Given the description of an element on the screen output the (x, y) to click on. 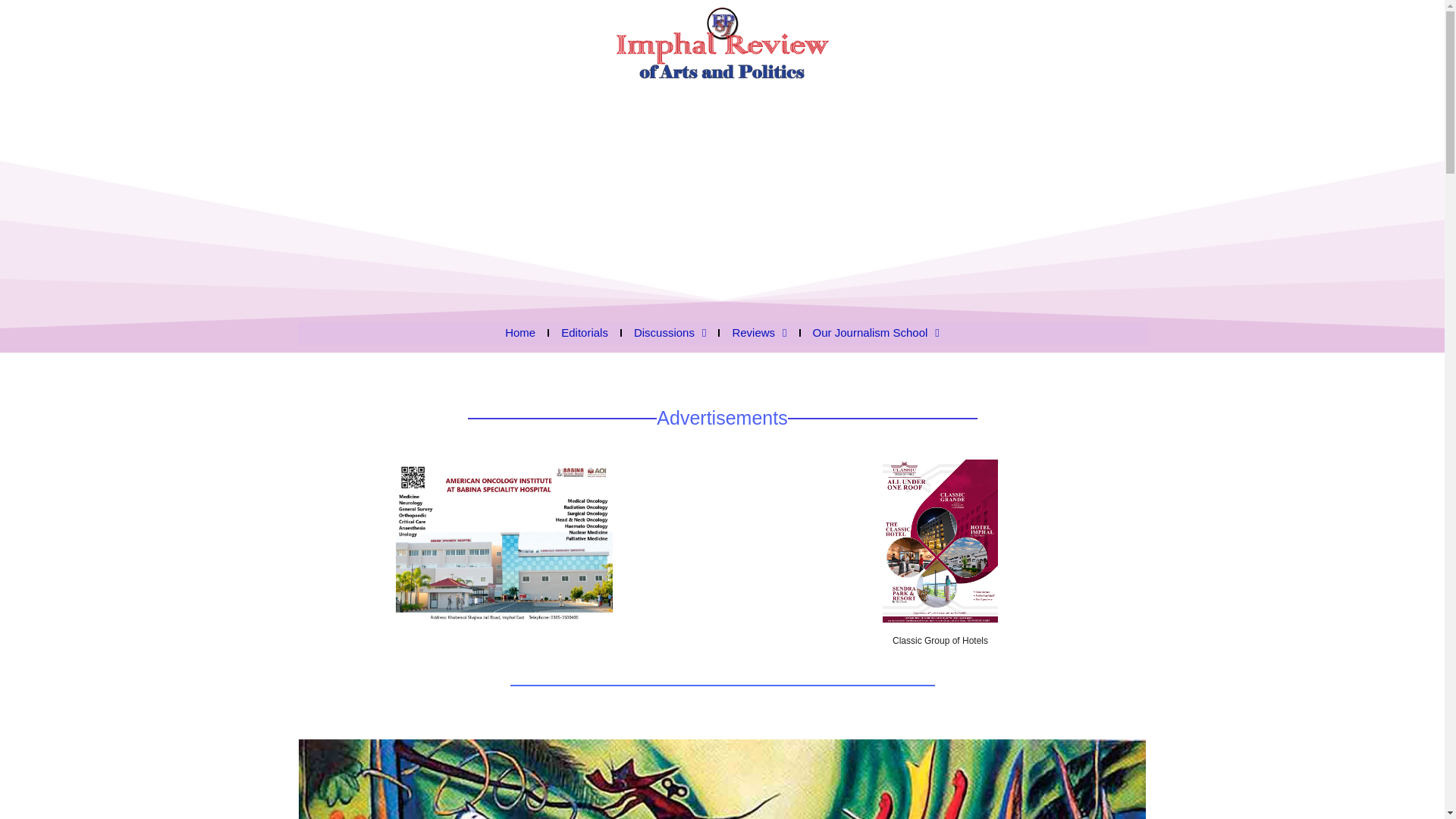
Reviews (758, 332)
Discussions (669, 332)
Our Journalism School (875, 332)
Editorials (584, 332)
Home (520, 332)
